Given the description of an element on the screen output the (x, y) to click on. 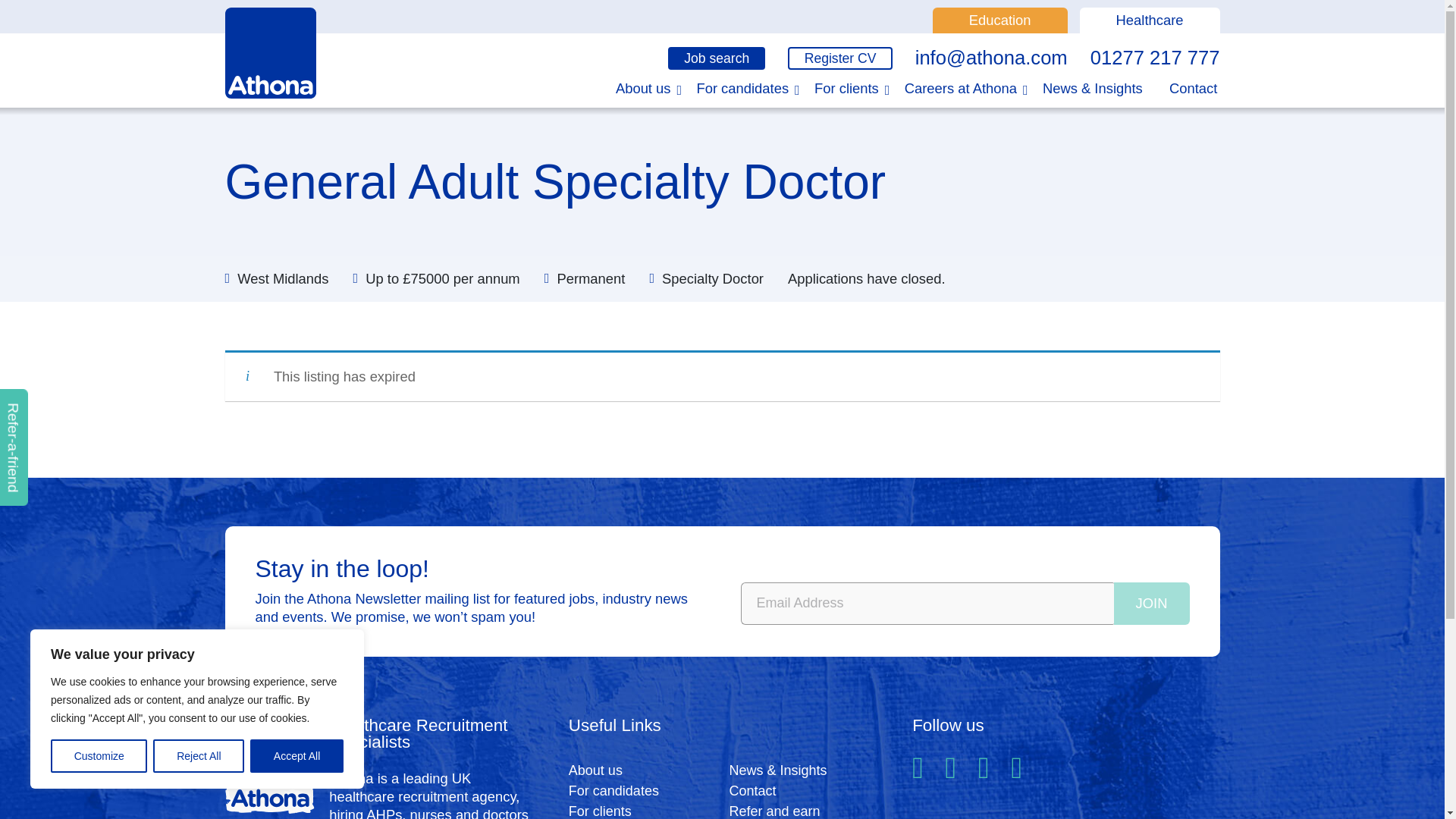
Register CV (839, 57)
Healthcare (1150, 20)
01277 217 777 (1155, 57)
Education (1000, 20)
Reject All (198, 756)
Accept All (296, 756)
Customize (98, 756)
For candidates (739, 88)
About us (640, 88)
Healthcare (1150, 20)
Athona (269, 52)
About us (640, 88)
Job search (716, 57)
Education (1000, 20)
For candidates (739, 88)
